Given the description of an element on the screen output the (x, y) to click on. 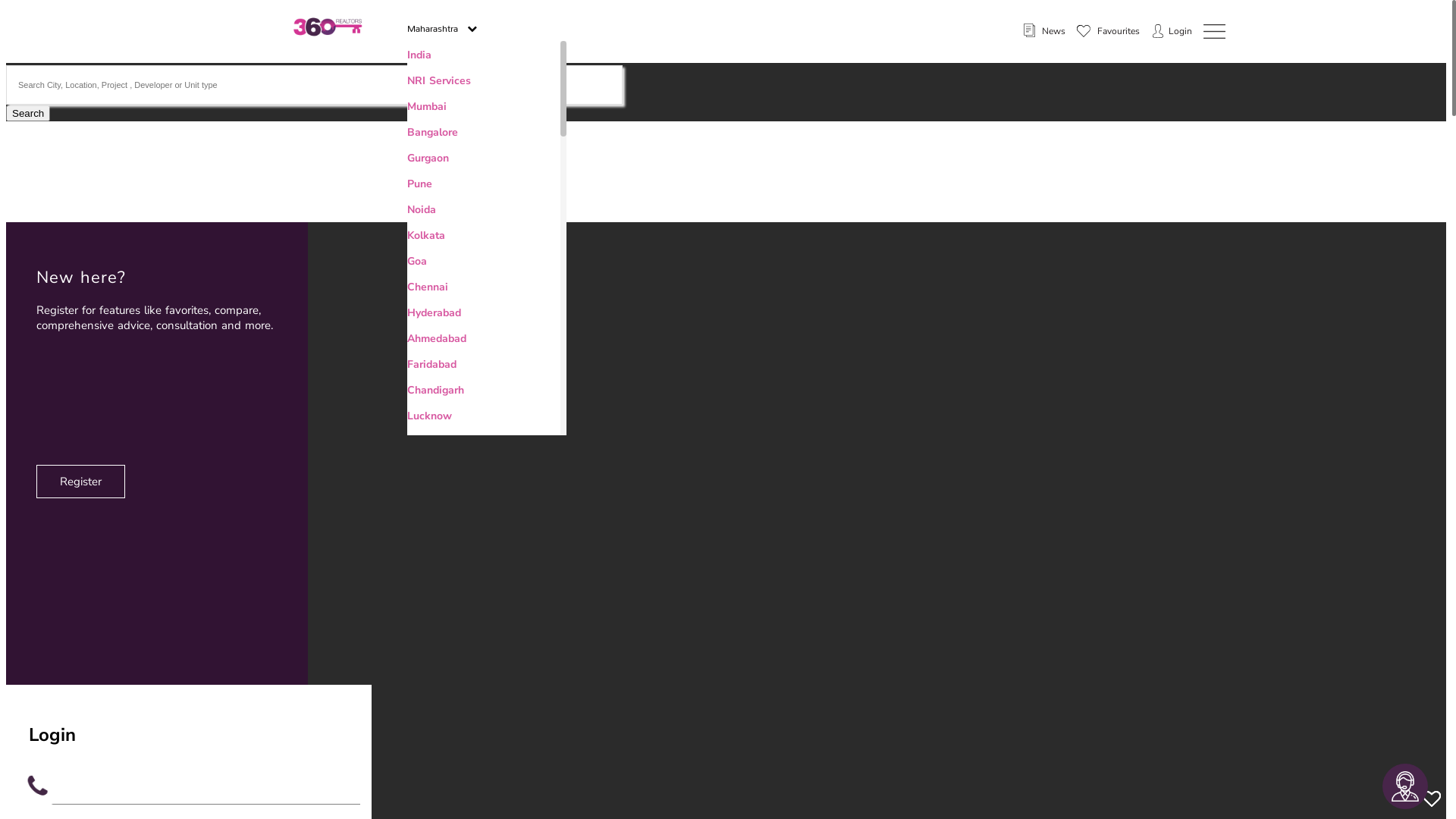
Add to Favorites Element type: hover (1431, 798)
Kolkata Element type: text (426, 235)
Maharashtra Element type: text (441, 25)
Mohali Element type: text (423, 467)
Favourites Element type: text (1107, 31)
Ghaziabad Element type: text (433, 596)
Search Element type: text (28, 113)
Faridabad Element type: text (431, 364)
Bangalore Element type: text (432, 132)
Amritsar Element type: text (428, 673)
Himachal Pradesh Element type: text (452, 699)
Pune Element type: text (419, 183)
favourite Element type: hover (1083, 30)
Gurgaon Element type: text (427, 157)
Chandigarh Element type: text (435, 389)
India Element type: text (419, 54)
Favourites Element type: text (1107, 31)
Chennai Element type: text (427, 286)
Ahmedabad Element type: text (436, 338)
Login Element type: text (1179, 31)
NRI Services Element type: text (438, 80)
Hyderabad Element type: text (434, 312)
Kochi Element type: text (420, 802)
Lucknow Element type: text (429, 415)
Delhi Element type: text (420, 750)
Meerut Element type: text (424, 493)
News Element type: text (1043, 31)
Register Element type: text (80, 481)
Dubai Element type: text (421, 776)
Jaipur Element type: text (421, 441)
Noida Element type: text (421, 209)
Bhiwadi Element type: text (427, 570)
Nagpur Element type: text (424, 622)
Panipat Element type: text (426, 725)
Dehradun Element type: text (431, 544)
Moradabad Element type: text (434, 518)
Mumbai Element type: text (426, 106)
Indore Element type: text (422, 647)
Goa Element type: text (416, 261)
